Given the description of an element on the screen output the (x, y) to click on. 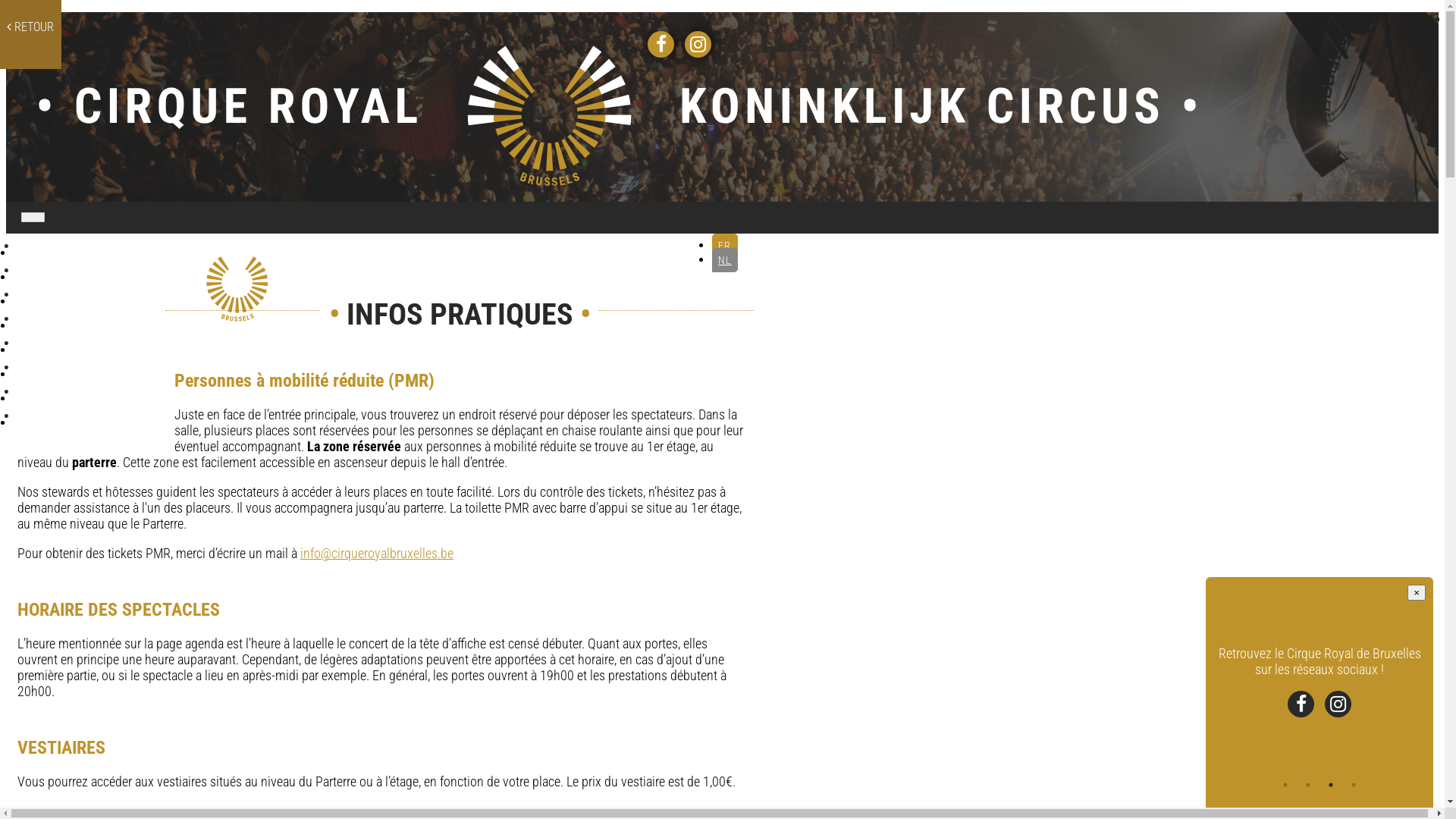
NL Element type: text (724, 259)
AGENDA Element type: text (93, 274)
INFOS PRATIQUES Element type: text (93, 322)
4 Element type: text (1353, 784)
3 Element type: text (1330, 784)
ACCUEIL Element type: text (93, 250)
FR Element type: text (724, 245)
1 Element type: text (1284, 784)
2 Element type: text (1307, 784)
PRO Element type: text (93, 395)
HISTORIQUE Element type: text (93, 347)
Toggle navigation Element type: text (40, 220)
info@cirqueroyalbruxelles.be Element type: text (376, 553)
LES SALLES Element type: text (93, 298)
